Given the description of an element on the screen output the (x, y) to click on. 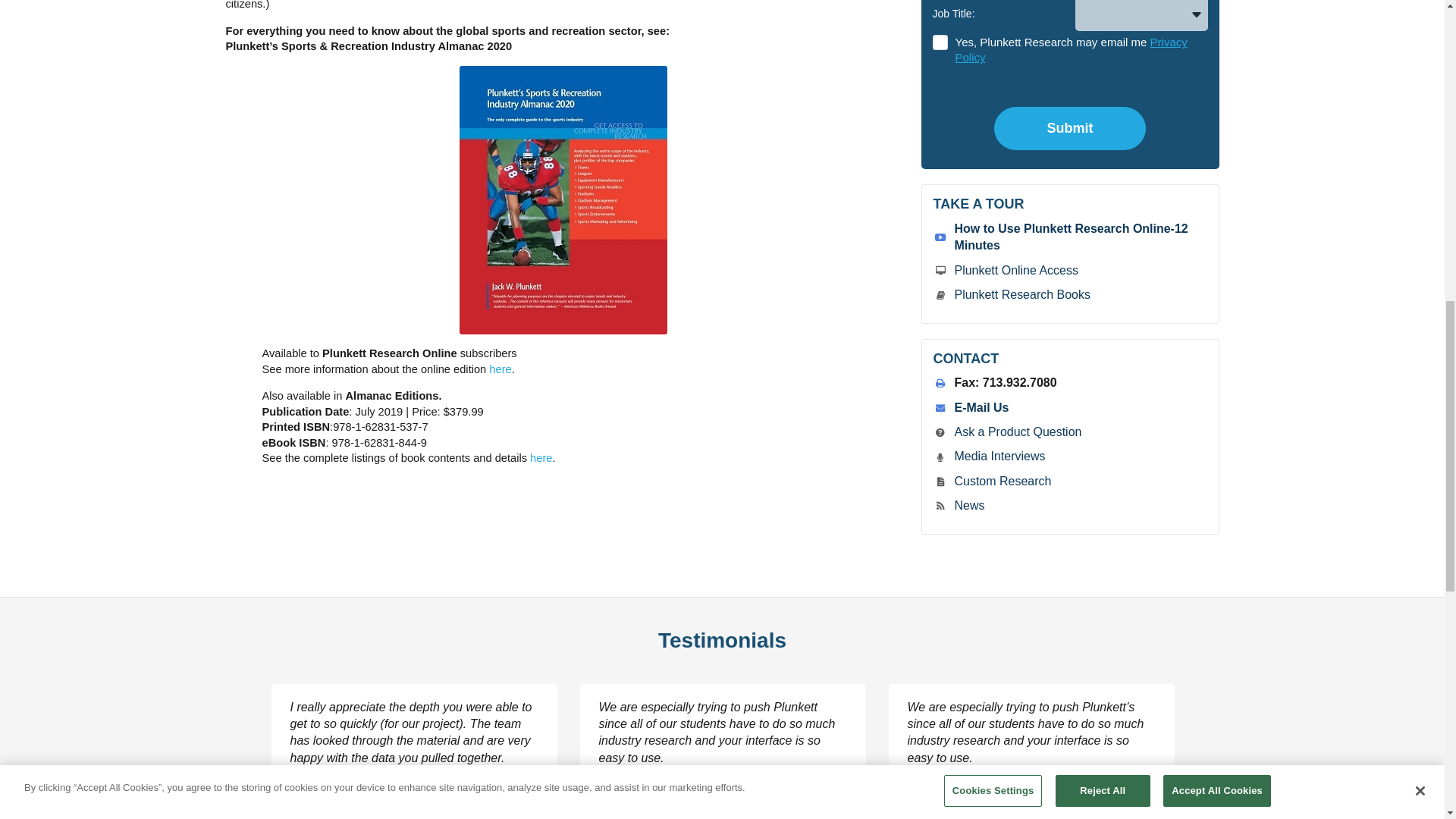
Custom Research (1002, 481)
Fax: 713.932.7080 (1005, 382)
Plunkett Online Access (1015, 269)
Privacy Policy (1071, 49)
Previous Slide (229, 774)
here (500, 369)
Next Slide (1214, 774)
News (968, 504)
E-Mail Us (981, 407)
Ask a Product Question (1017, 431)
granted (1079, 50)
Submit (1069, 128)
here (540, 458)
Plunkett Research Books (1021, 294)
Media Interviews (999, 455)
